Given the description of an element on the screen output the (x, y) to click on. 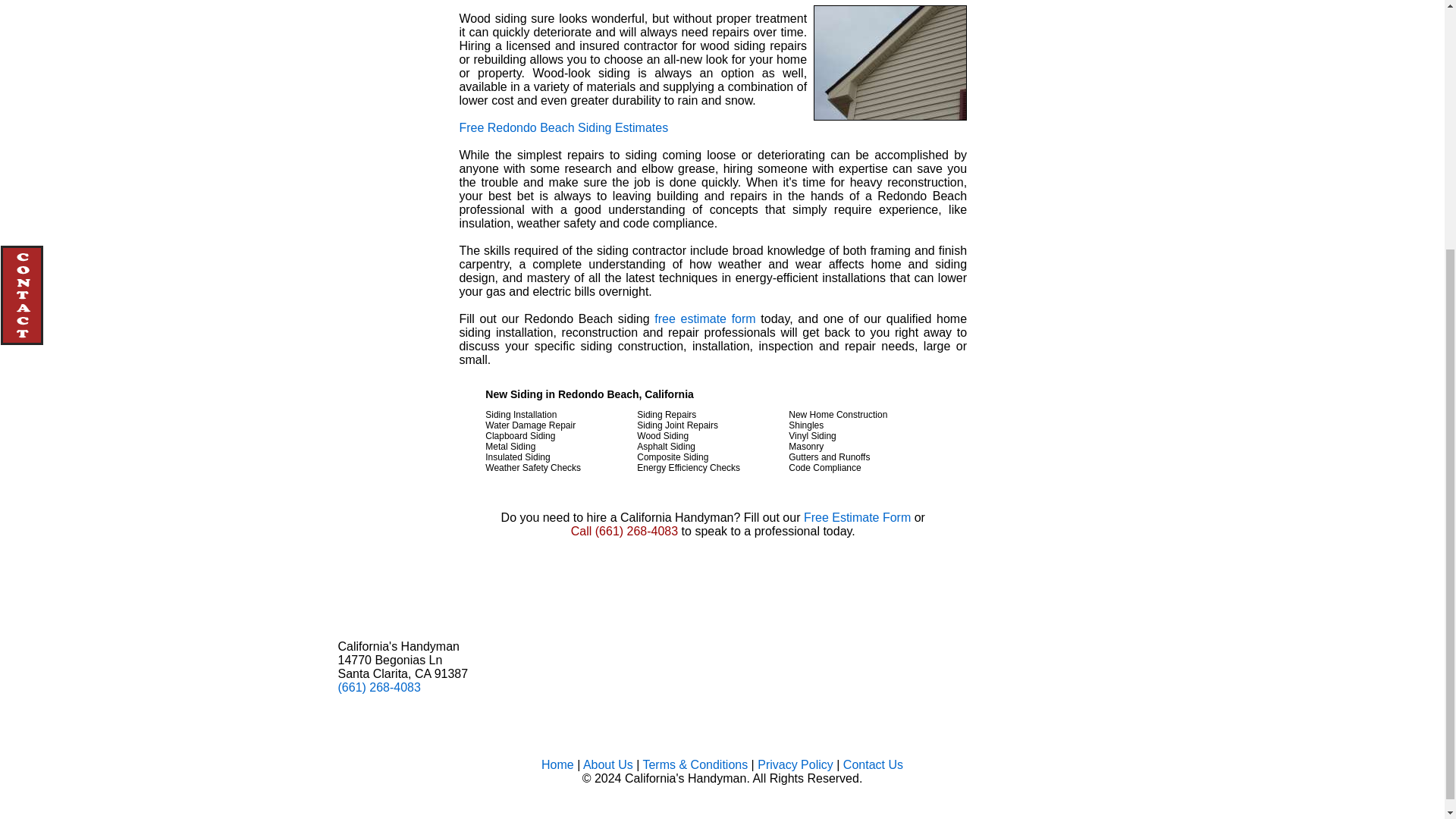
Privacy Policy (794, 764)
Home (631, 771)
Free Redondo Beach Siding Estimates (563, 127)
Contact Us (872, 764)
Free Estimate Form (857, 517)
free estimate form (704, 318)
About Us (608, 764)
